Given the description of an element on the screen output the (x, y) to click on. 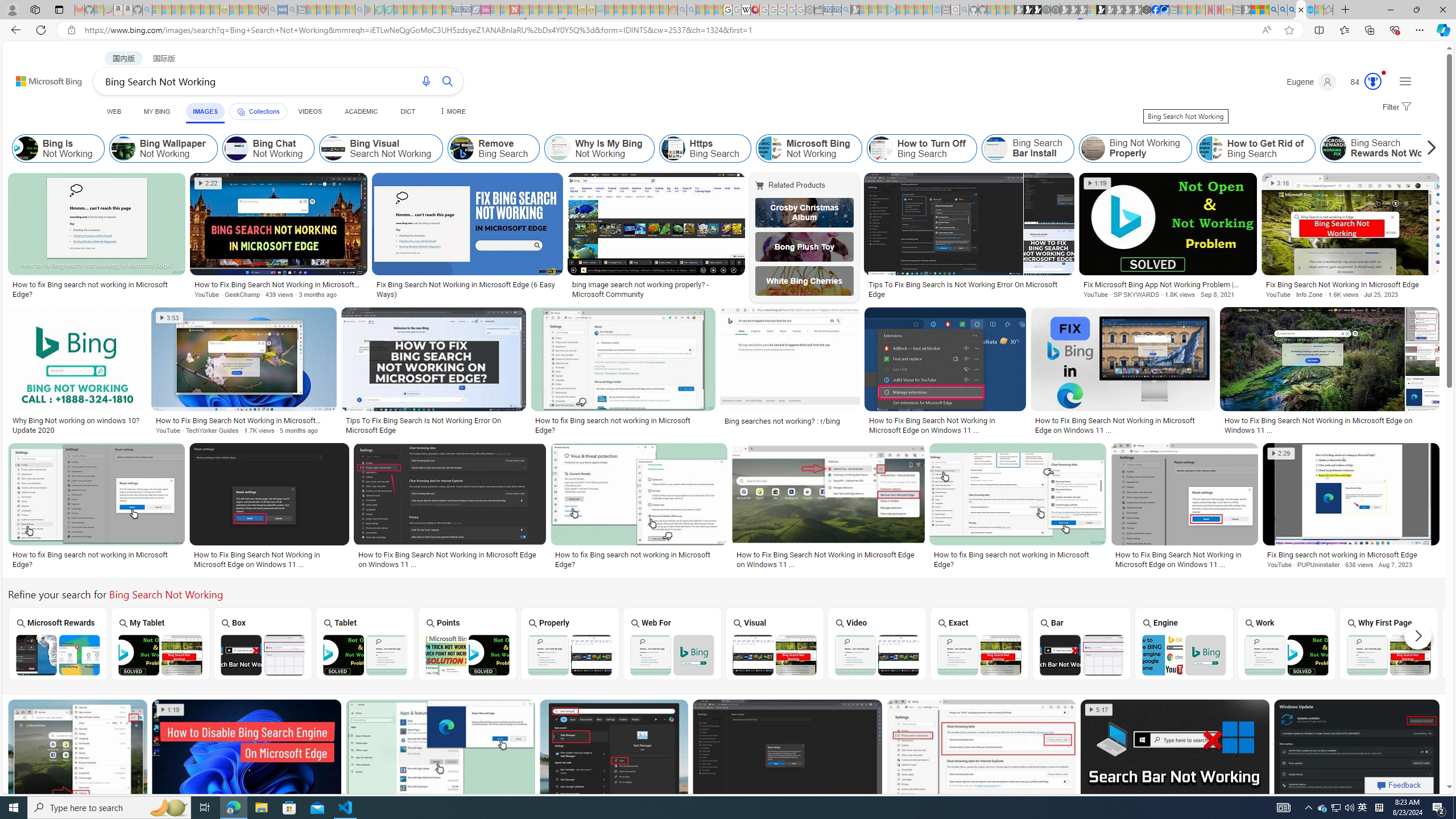
utah sues federal government - Search - Sleeping (291, 9)
Bing Search Engine Not Working Engine (1184, 643)
Bing Search Box Not Working Box (262, 643)
Bing Work Search Not Working (1285, 655)
Crosby Christmas Album (804, 212)
Fix Bing search not working in Microsoft Edge (1350, 554)
